Given the description of an element on the screen output the (x, y) to click on. 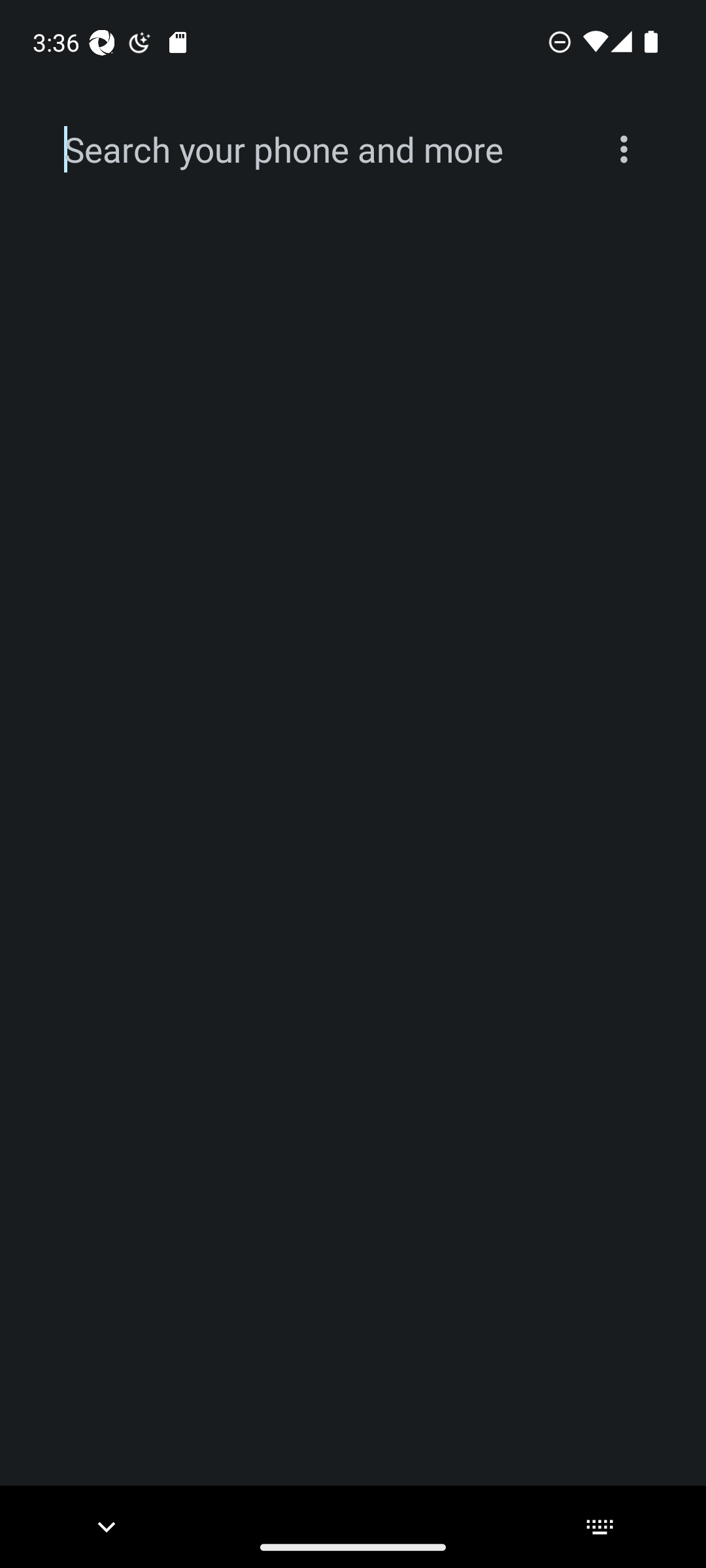
Search your phone and more (321, 149)
Preferences (623, 149)
